Given the description of an element on the screen output the (x, y) to click on. 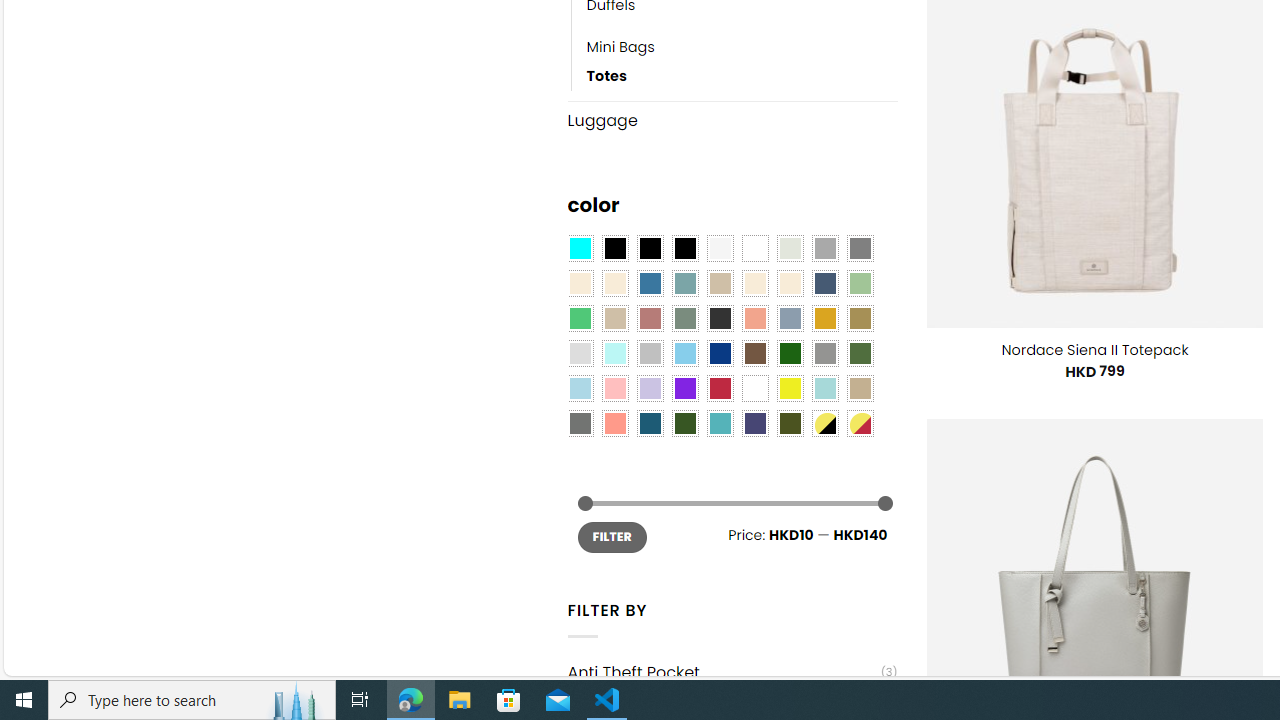
Beige-Brown (614, 283)
All Gray (859, 249)
Black-Brown (684, 249)
Army Green (789, 424)
